Given the description of an element on the screen output the (x, y) to click on. 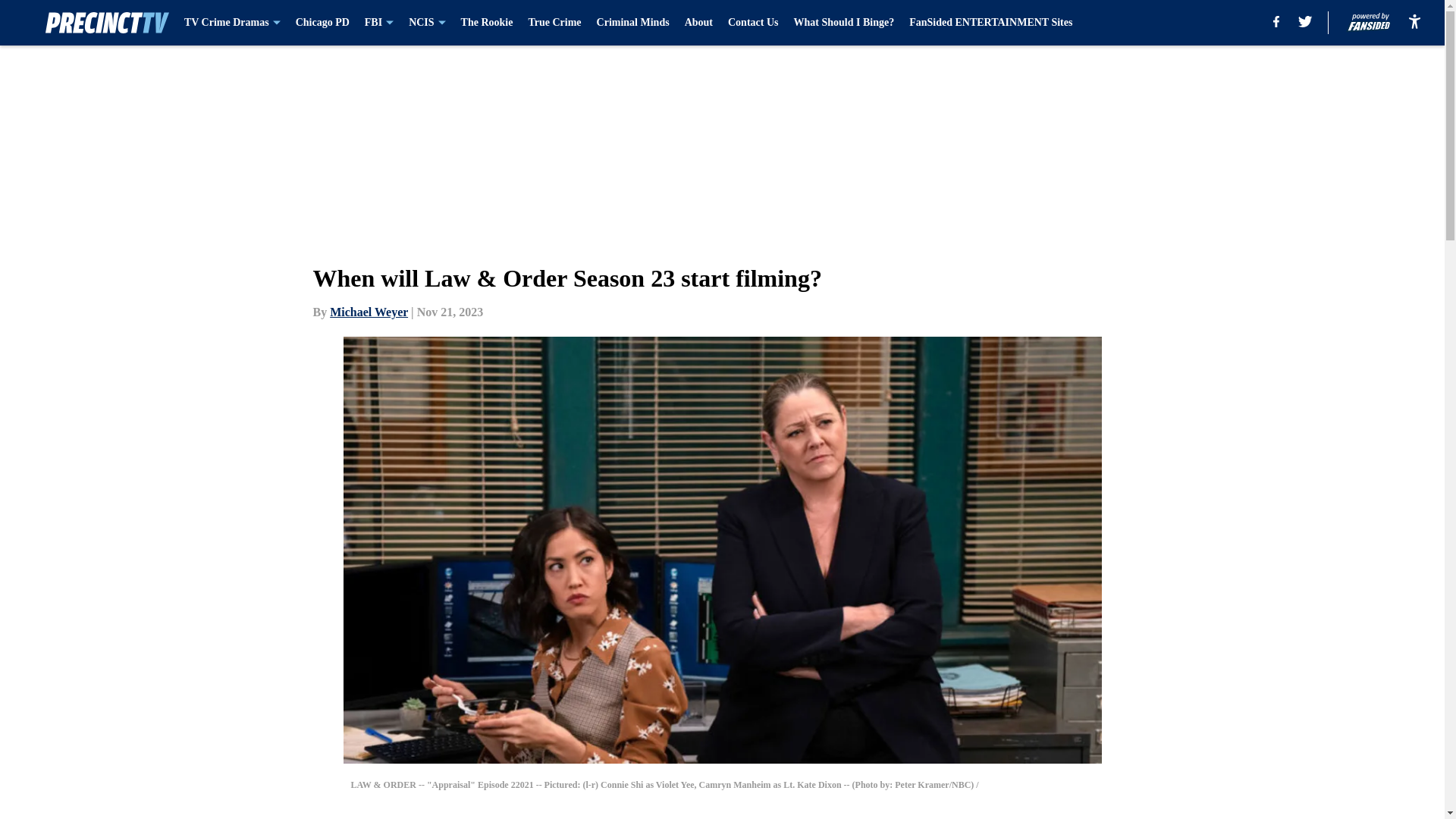
About (698, 22)
Michael Weyer (368, 311)
FanSided ENTERTAINMENT Sites (989, 22)
The Rookie (487, 22)
Chicago PD (322, 22)
Criminal Minds (632, 22)
True Crime (553, 22)
Contact Us (753, 22)
What Should I Binge? (843, 22)
